Given the description of an element on the screen output the (x, y) to click on. 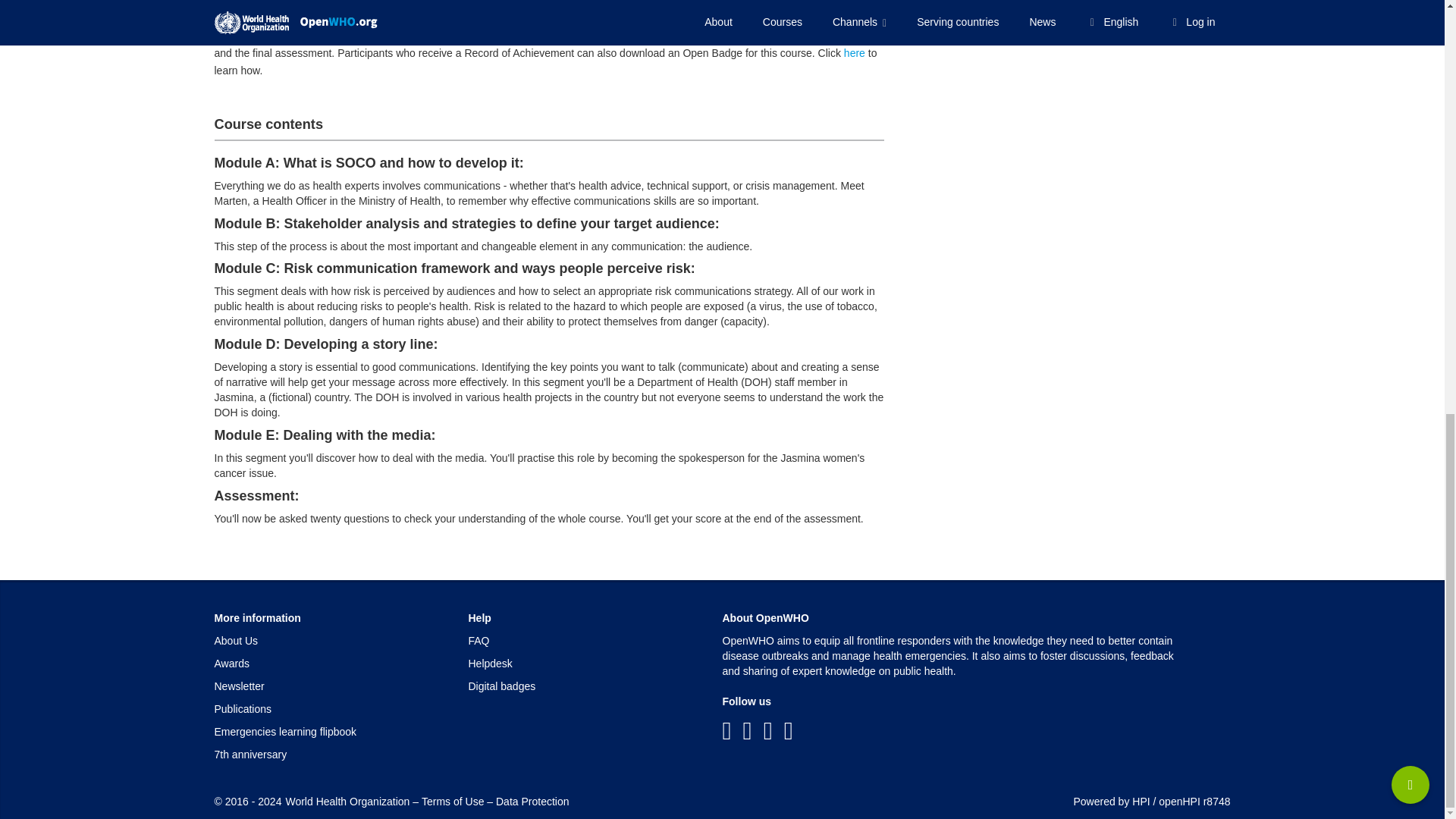
World Health Organization (347, 801)
openHPI (1178, 801)
Helpdesk (490, 663)
Data Protection (532, 801)
Publications (242, 708)
Digital badges (501, 686)
Facebook (726, 731)
Awards (231, 663)
Terms of Use (452, 801)
7th anniversary (250, 754)
Instagram (788, 731)
YouTube (767, 731)
Emergencies learning flipbook (285, 731)
HPI (1141, 801)
X, formerly Twitter (747, 731)
